Given the description of an element on the screen output the (x, y) to click on. 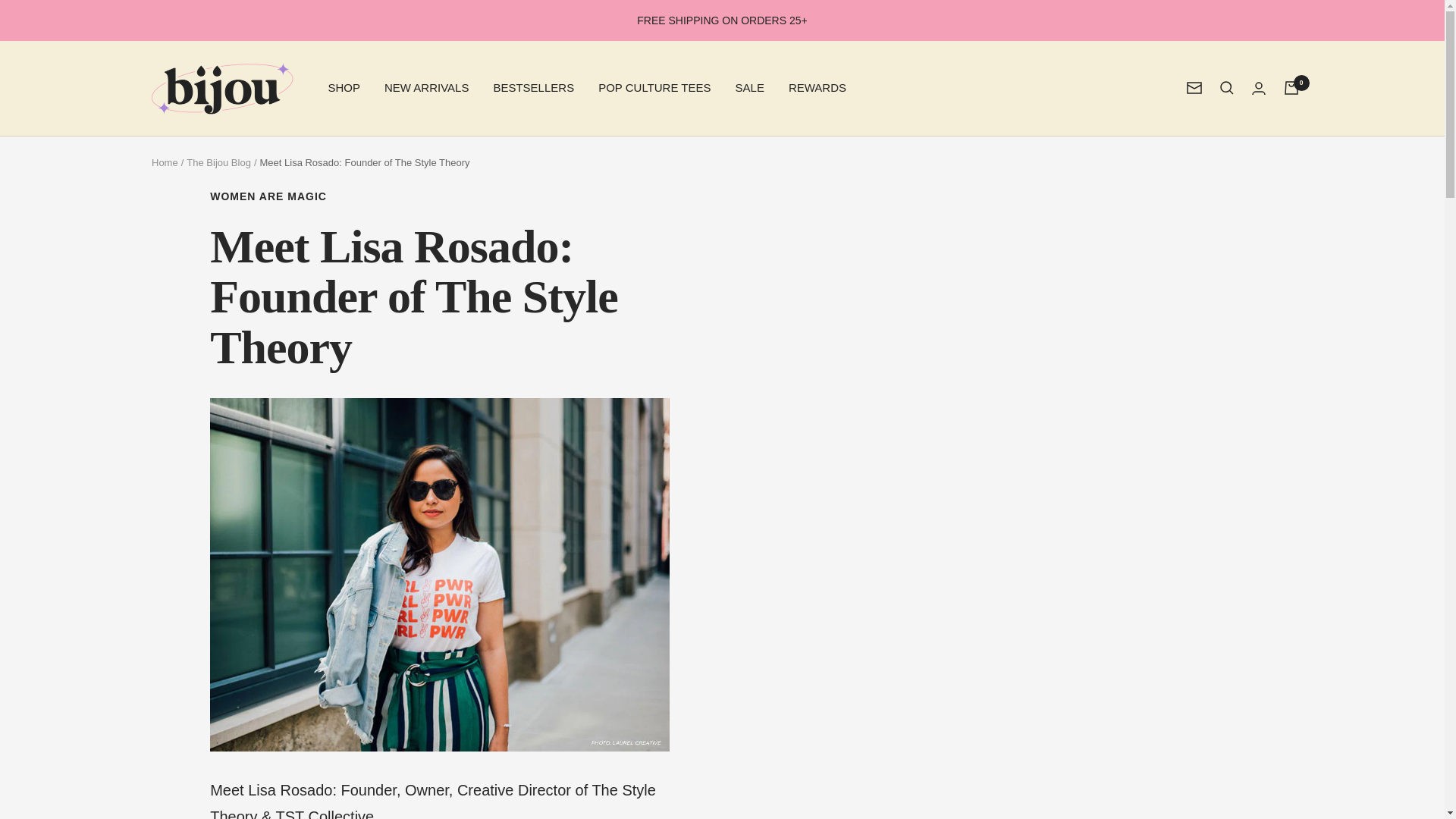
SALE (749, 87)
Newsletter (1193, 87)
POP CULTURE TEES (654, 87)
SHOP (343, 87)
WOMEN ARE MAGIC (438, 195)
Bijou Candles (221, 87)
BESTSELLERS (533, 87)
NEW ARRIVALS (426, 87)
The Bijou Blog (218, 161)
Home (164, 161)
0 (1290, 88)
REWARDS (817, 87)
